Given the description of an element on the screen output the (x, y) to click on. 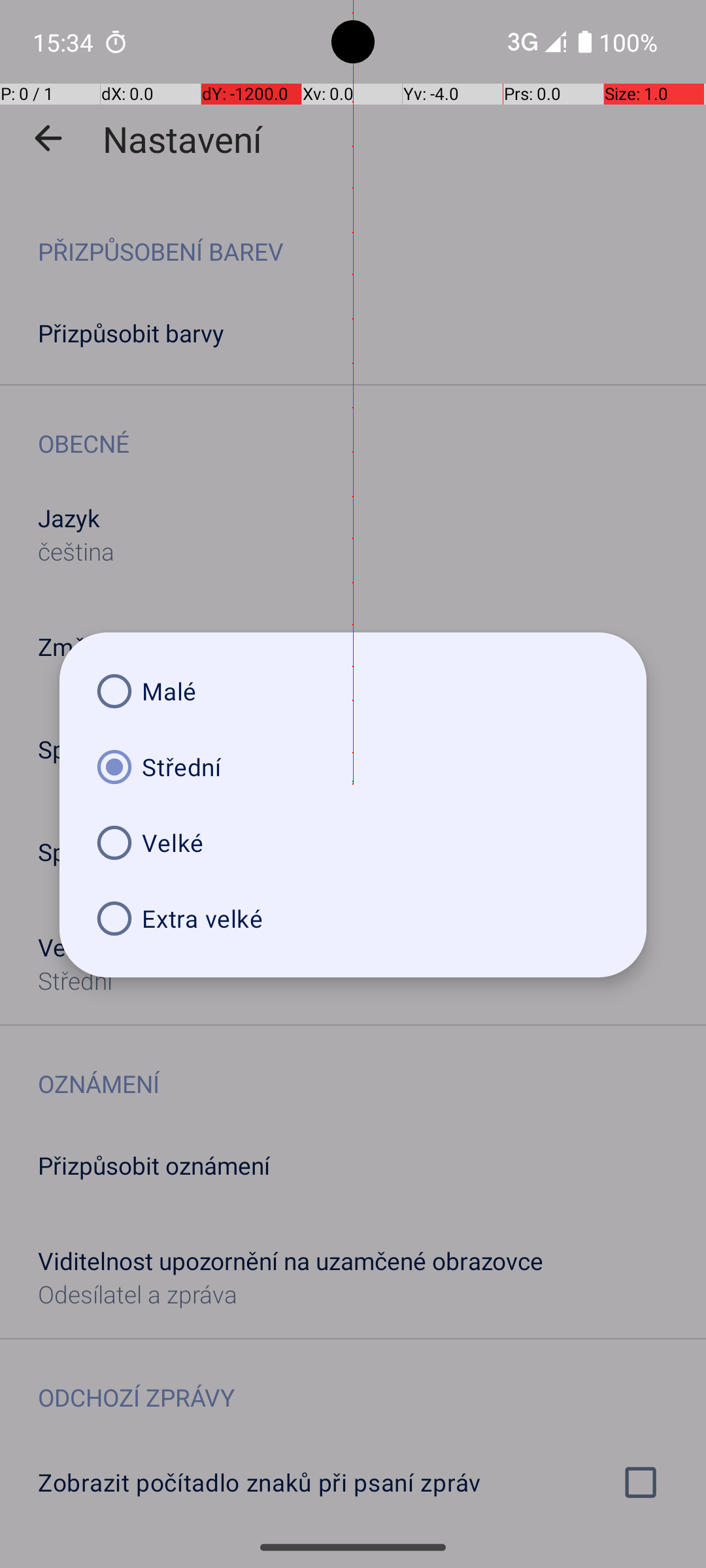
Malé Element type: android.widget.RadioButton (352, 691)
Střední Element type: android.widget.RadioButton (352, 766)
Velké Element type: android.widget.RadioButton (352, 842)
Extra velké Element type: android.widget.RadioButton (352, 918)
